Given the description of an element on the screen output the (x, y) to click on. 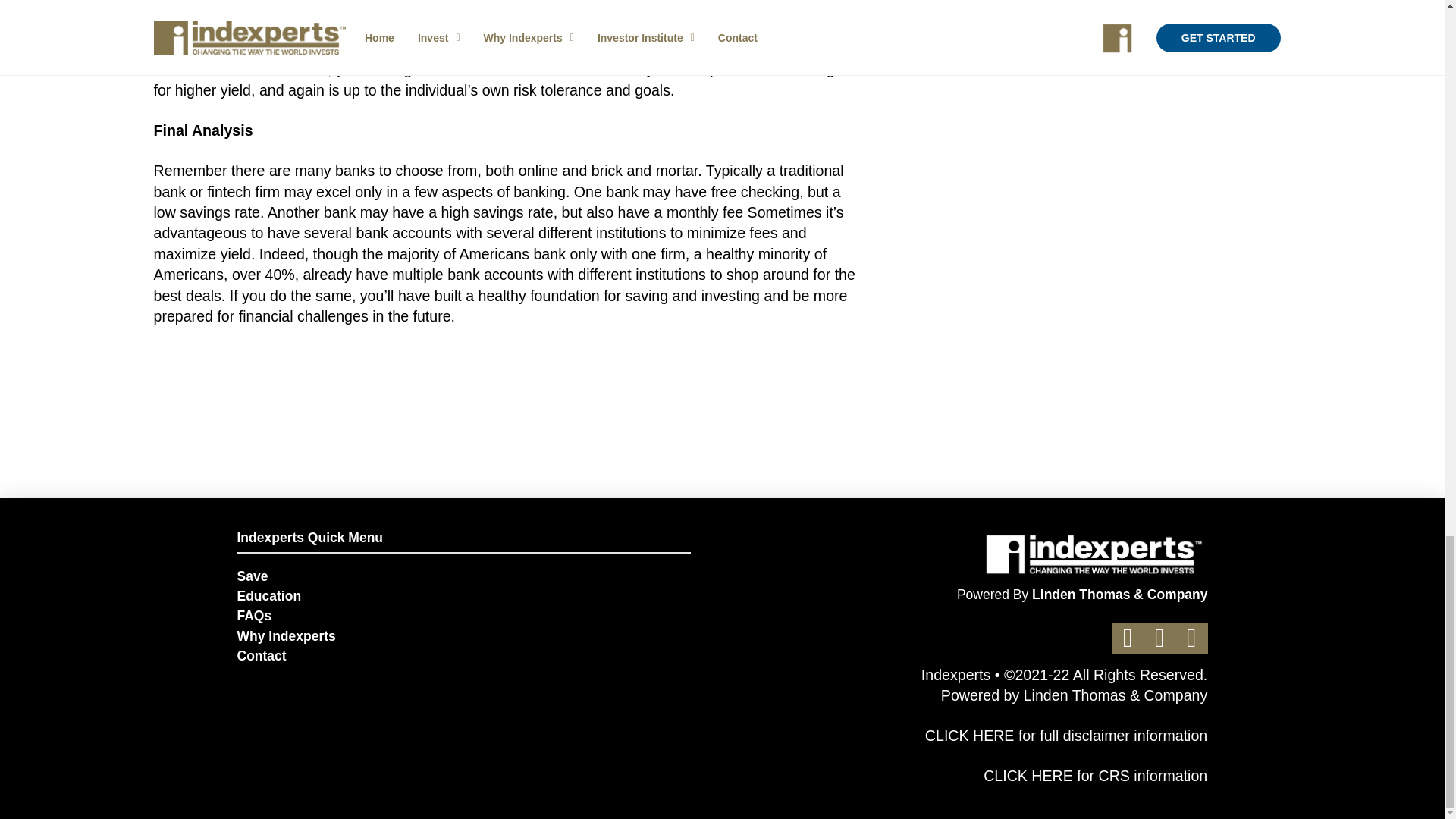
FAQs (462, 616)
CLICK HERE (969, 735)
CLICK HERE (1028, 775)
Contact (462, 656)
Education (462, 596)
Save (462, 577)
Why Indexperts (462, 636)
